Given the description of an element on the screen output the (x, y) to click on. 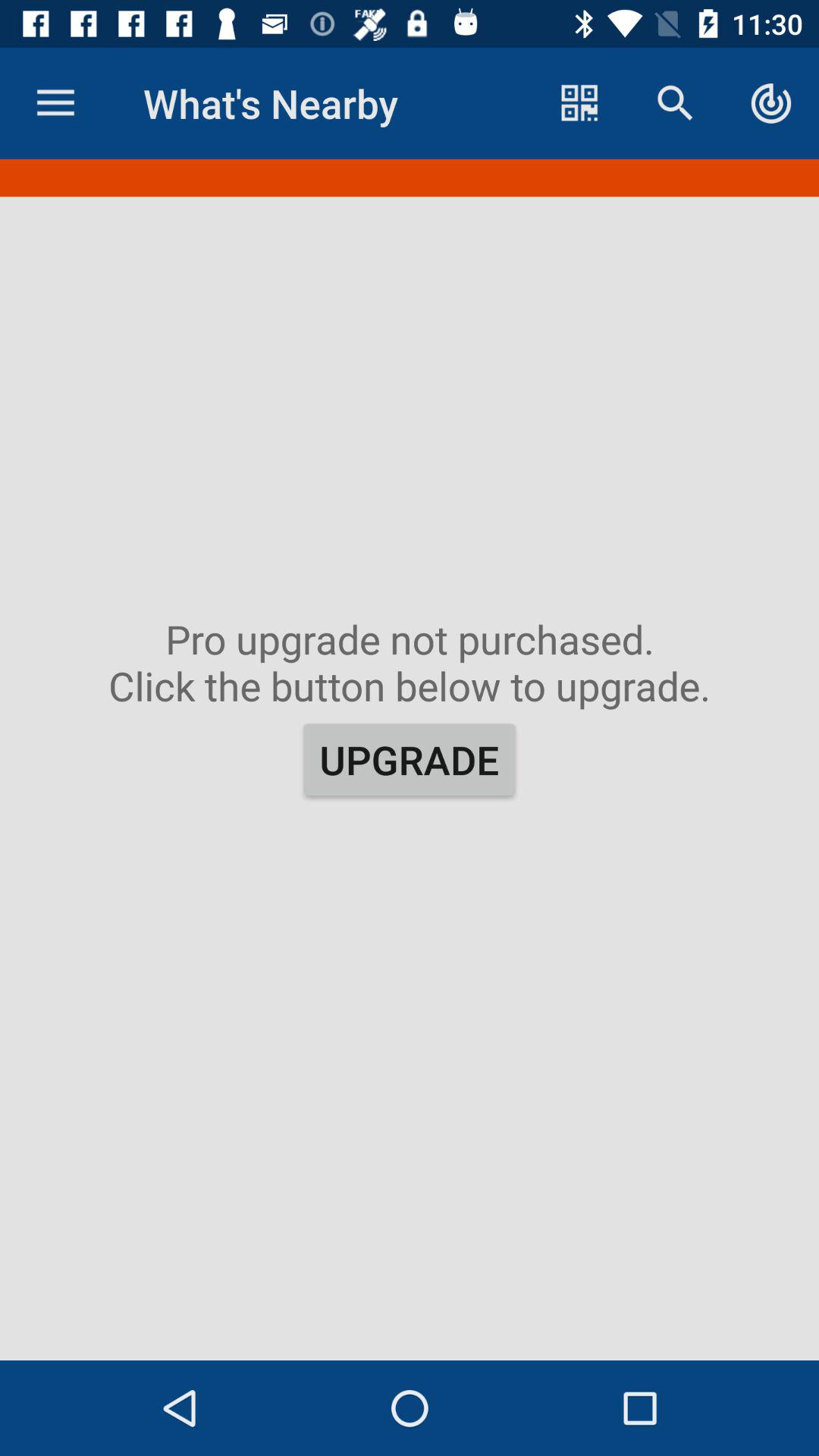
tap the item to the left of the what's nearby (55, 103)
